Given the description of an element on the screen output the (x, y) to click on. 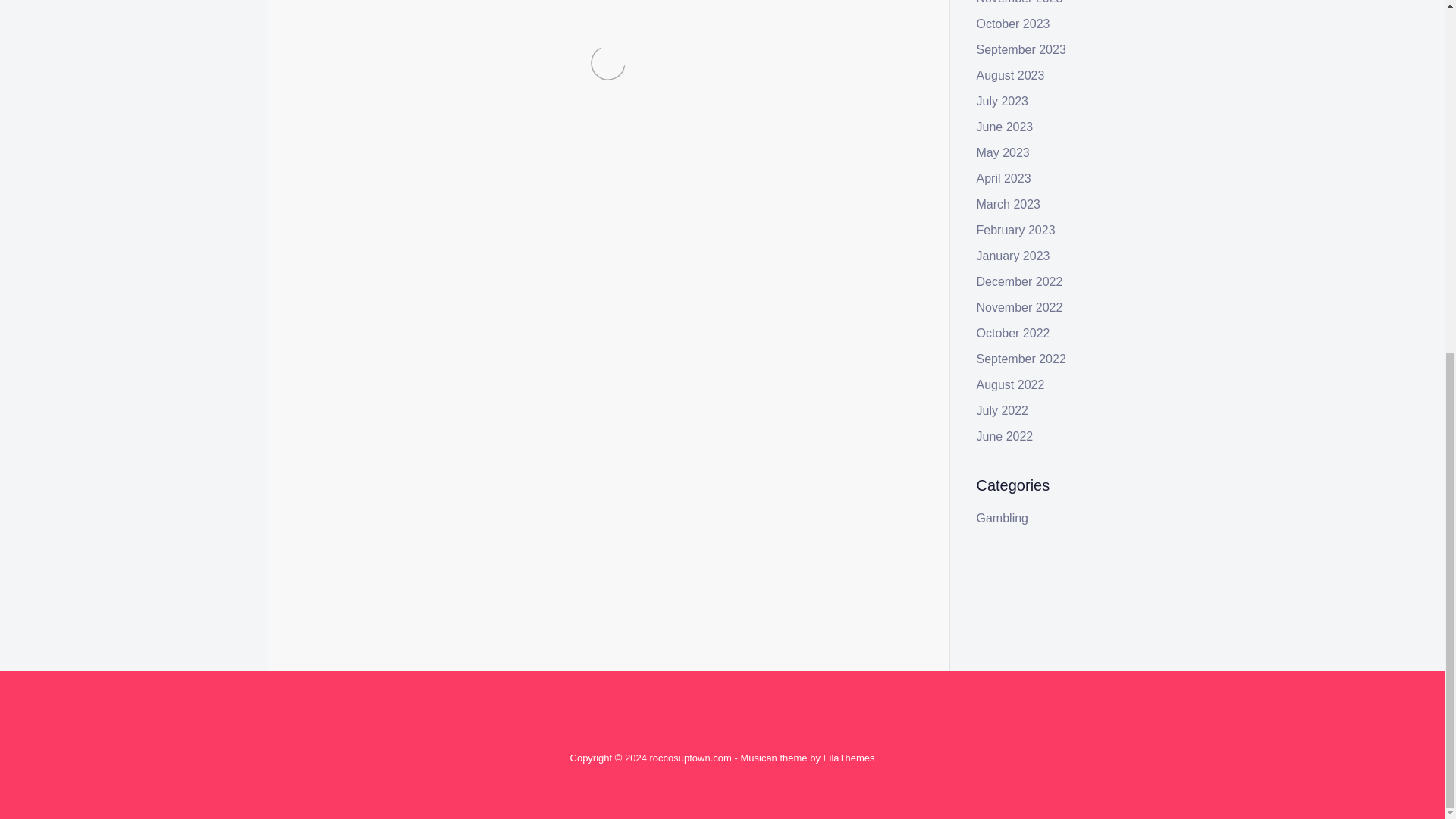
April 2023 (1003, 178)
July 2022 (1002, 410)
January 2023 (1012, 255)
September 2023 (1020, 49)
February 2023 (1015, 229)
December 2022 (1019, 281)
August 2023 (1010, 74)
FilaThemes (849, 757)
May 2023 (1002, 152)
October 2022 (1012, 332)
